Given the description of an element on the screen output the (x, y) to click on. 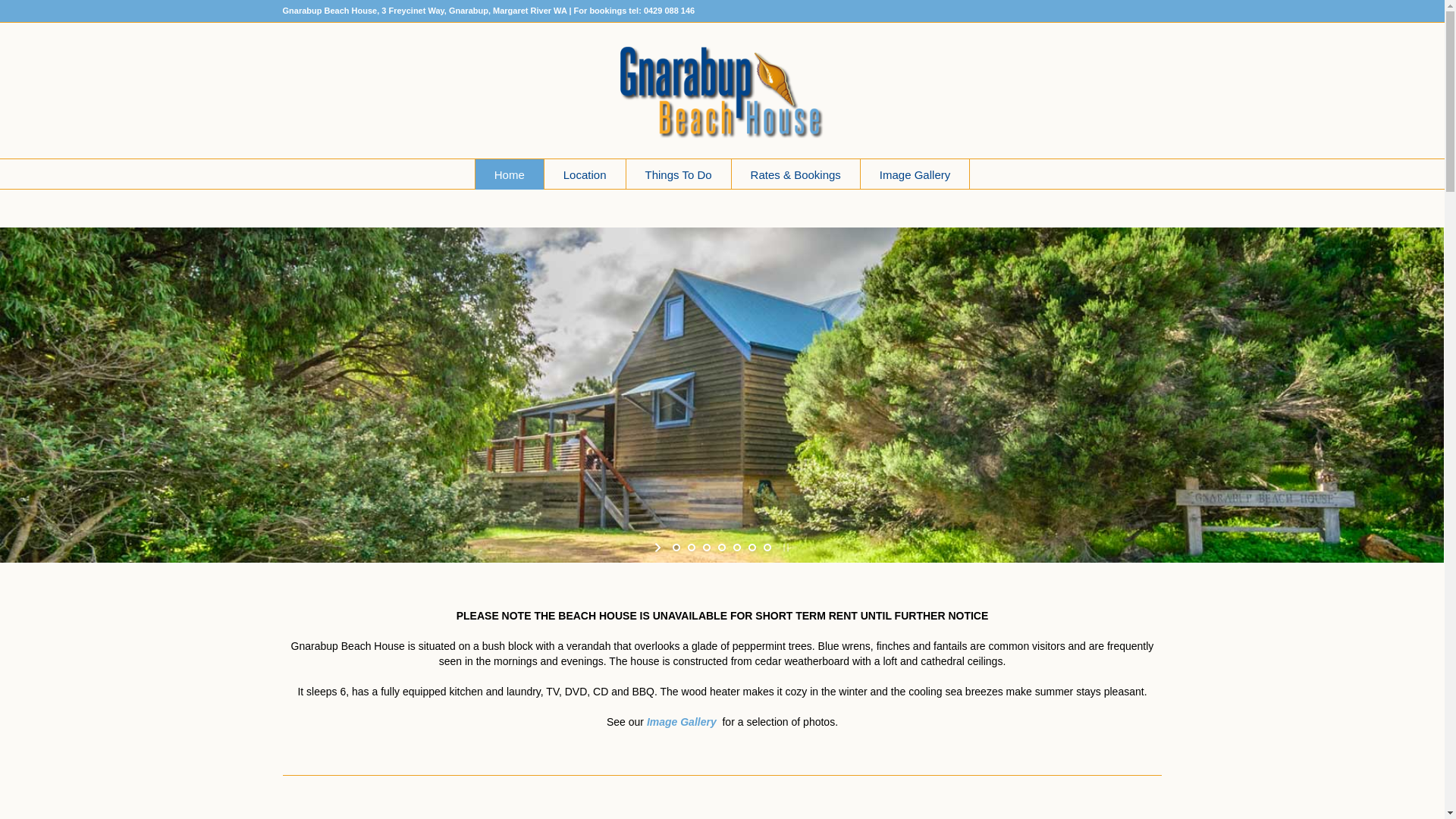
Image Gallery Element type: text (681, 721)
Things To Do Element type: text (678, 174)
Image Gallery Element type: text (914, 174)
Location Element type: text (585, 174)
Home Element type: text (509, 174)
Rates & Bookings Element type: text (795, 174)
